Given the description of an element on the screen output the (x, y) to click on. 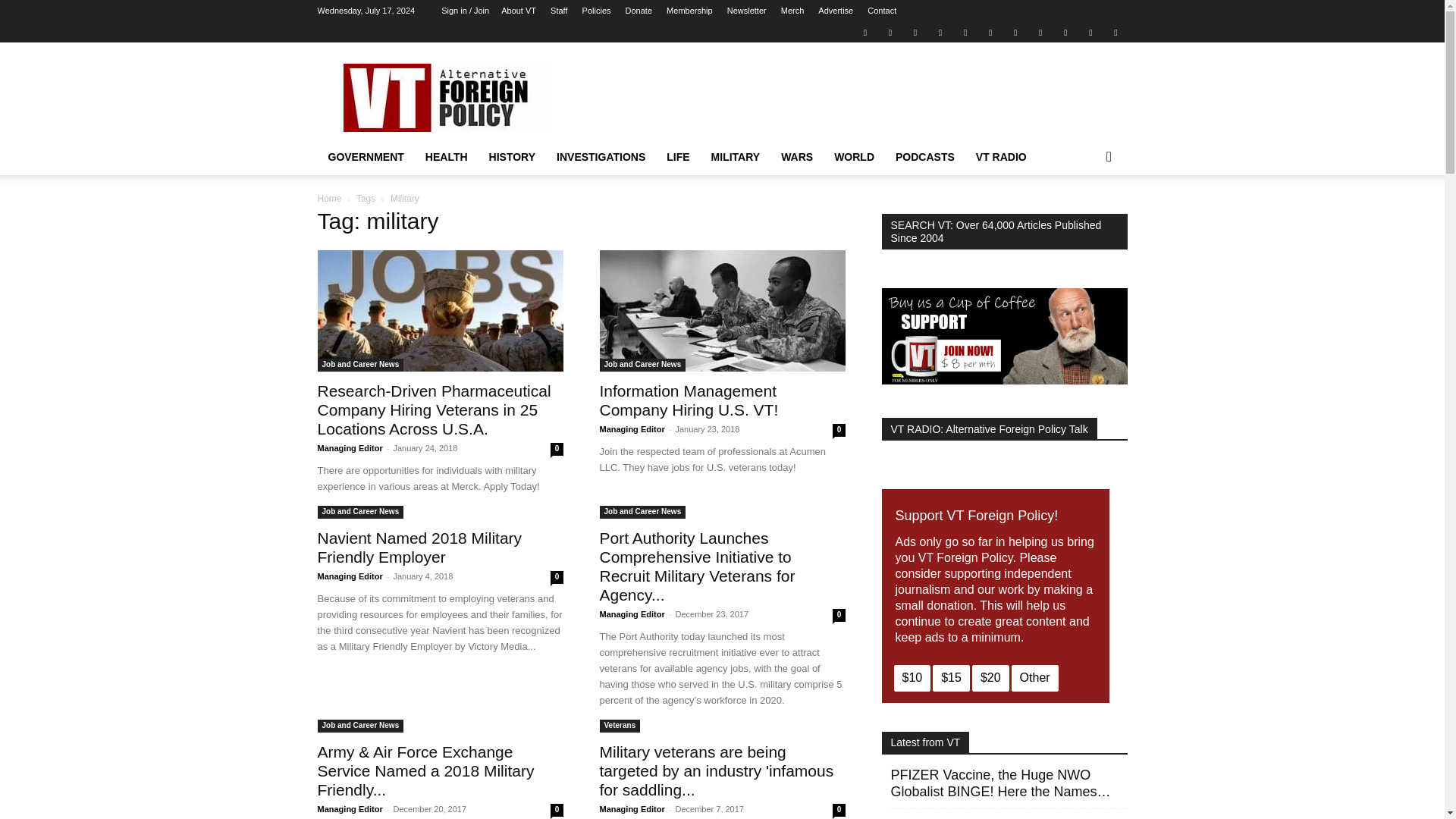
Membership (689, 10)
Newsletter (746, 10)
Rumble (964, 31)
Reddit (940, 31)
Merch (792, 10)
Donate (639, 10)
Blogger (864, 31)
Policies (596, 10)
Facebook (890, 31)
Contact (881, 10)
Advertise (835, 10)
Mail (915, 31)
About VT (517, 10)
Staff (558, 10)
